Given the description of an element on the screen output the (x, y) to click on. 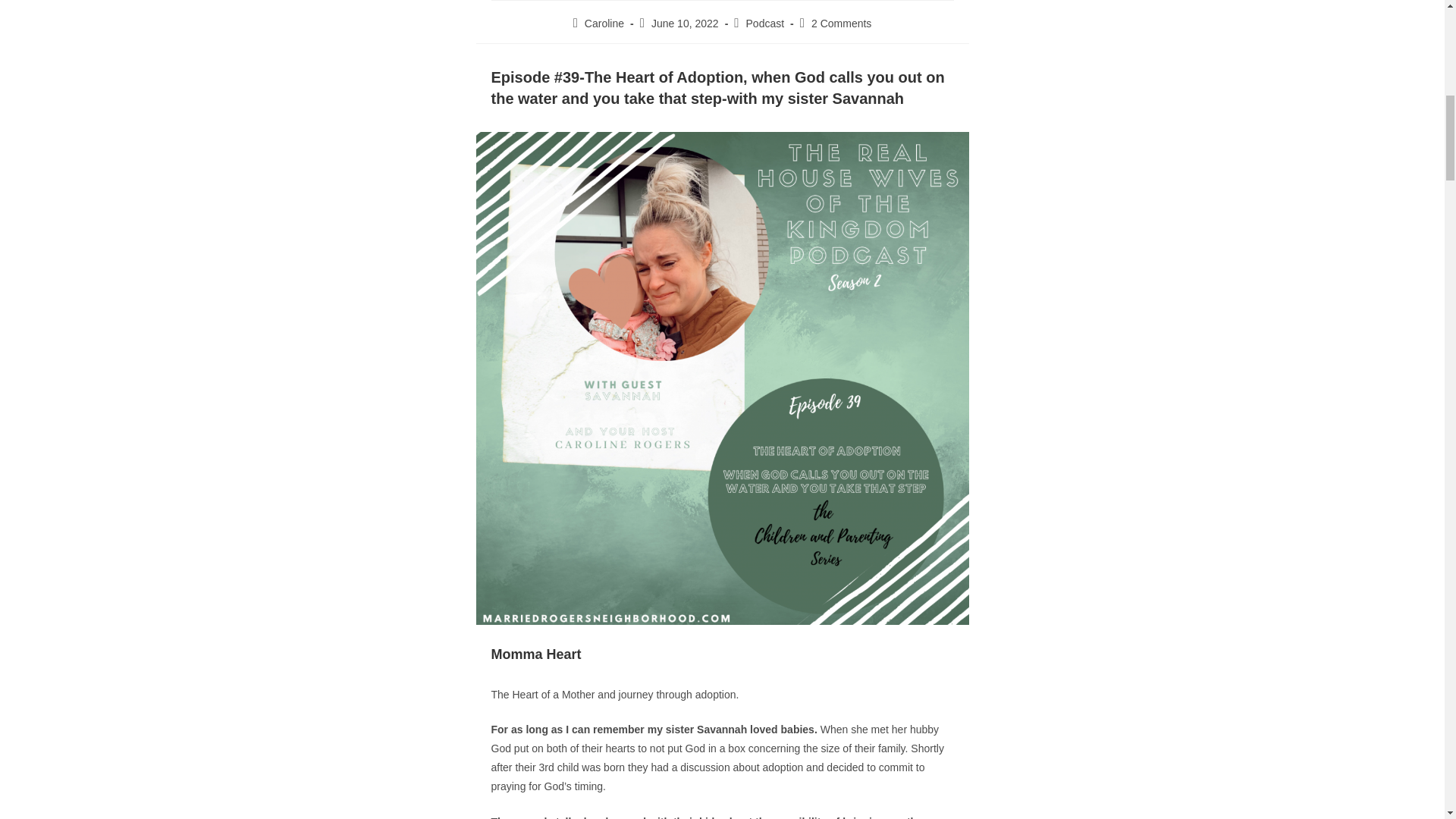
2 Comments (840, 23)
Podcast (764, 23)
Caroline (604, 23)
Posts by Caroline (604, 23)
